Given the description of an element on the screen output the (x, y) to click on. 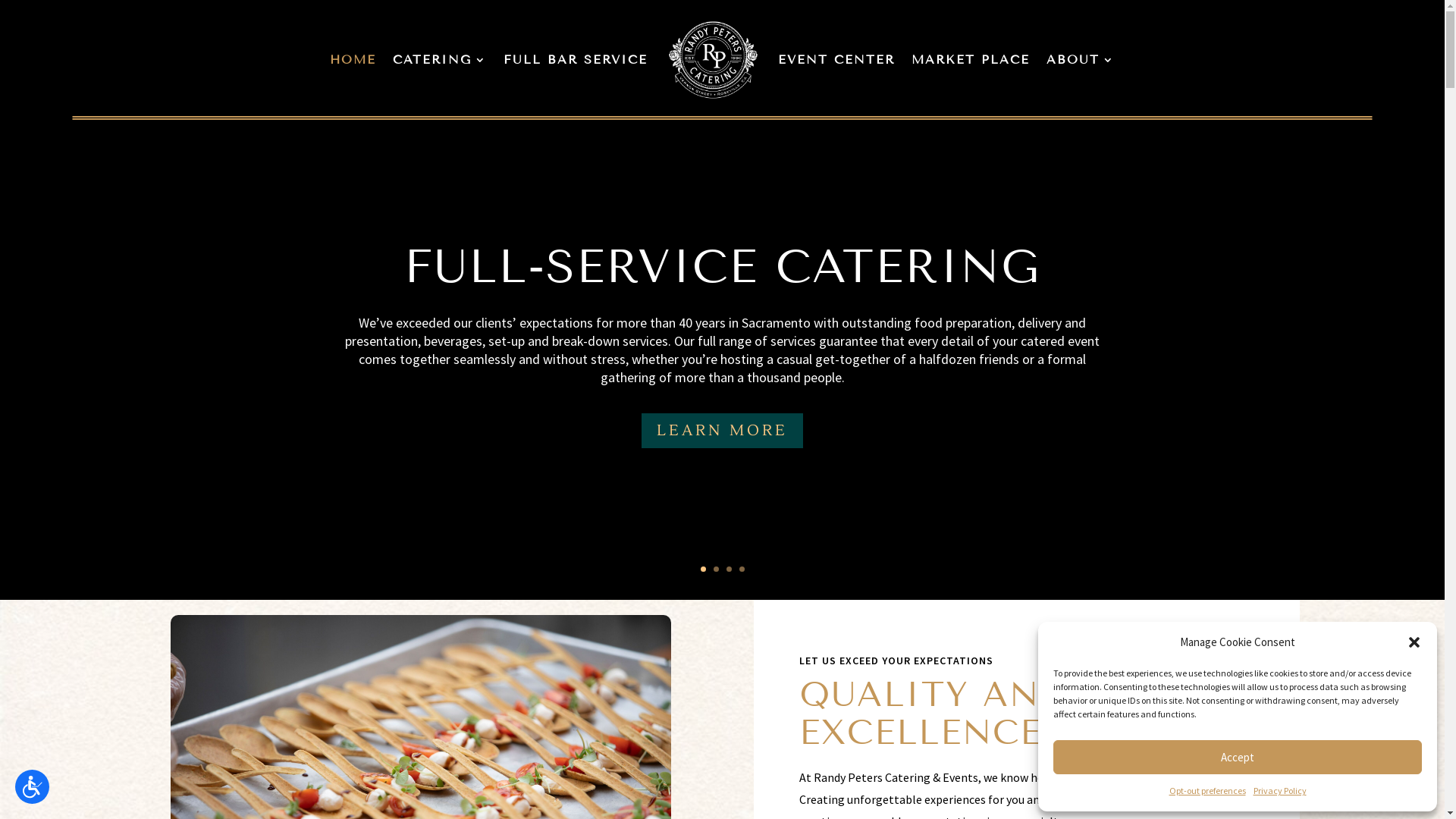
1 Element type: text (703, 568)
HOME Element type: text (352, 59)
FULL BAR SERVICE Element type: text (575, 59)
CATERING Element type: text (439, 59)
2 Element type: text (715, 568)
Privacy Policy Element type: text (1278, 790)
3 Element type: text (728, 568)
EVENT CENTER Element type: text (836, 59)
MARKET PLACE Element type: text (970, 59)
4 Element type: text (740, 568)
LEARN MORE Element type: text (722, 430)
ABOUT Element type: text (1080, 59)
FULL-SERVICE CATERING Element type: text (722, 266)
Accept Element type: text (1237, 757)
Opt-out preferences Element type: text (1207, 790)
